Given the description of an element on the screen output the (x, y) to click on. 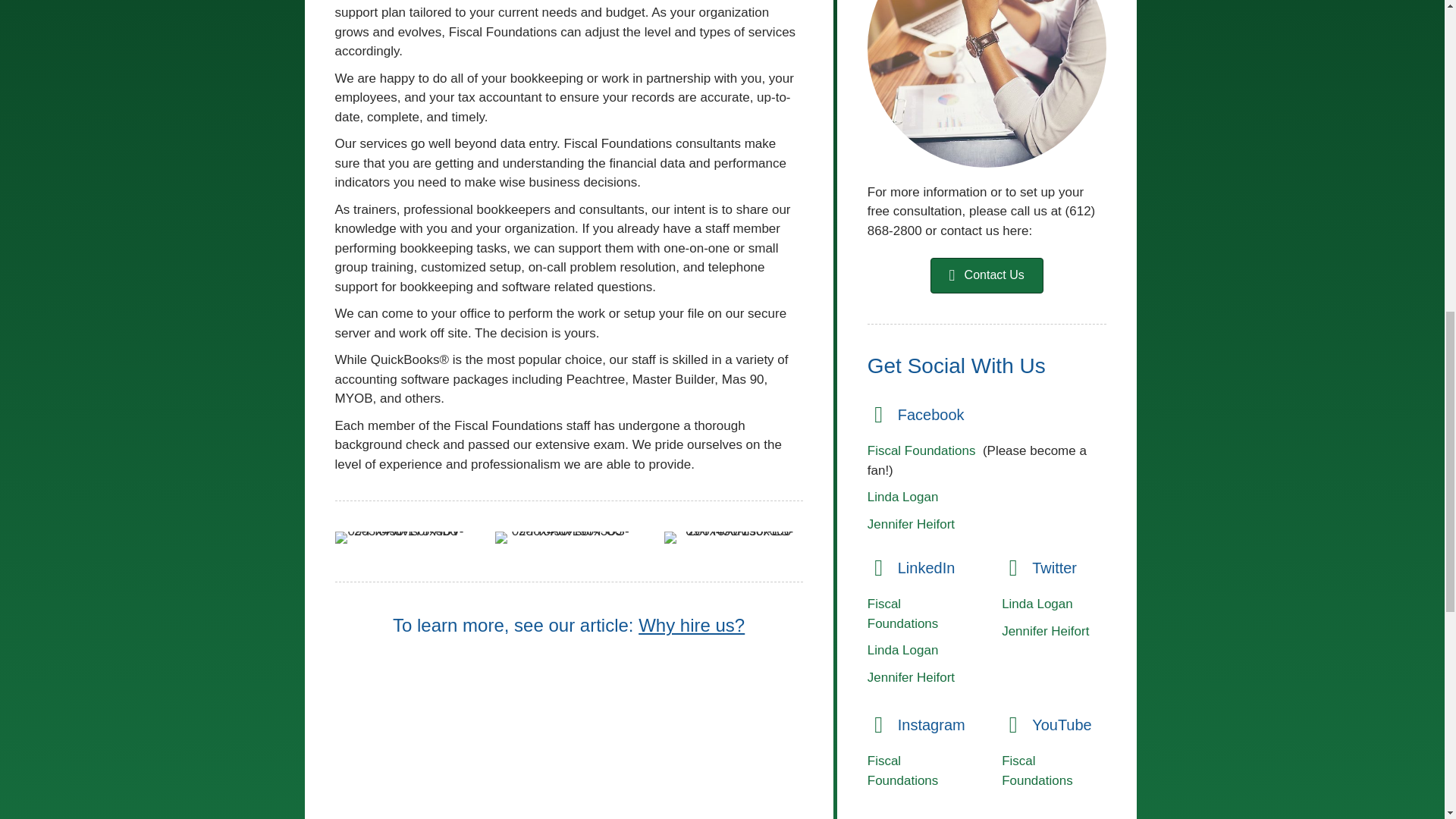
09-ProAdvisor-POS-286x450-190x300 (564, 537)
09-ProAdvisor-ES-286x450-190x300 (733, 537)
stressed-out (986, 83)
09-ProAdvisor-ADV-263x450-175x300 (399, 537)
